Given the description of an element on the screen output the (x, y) to click on. 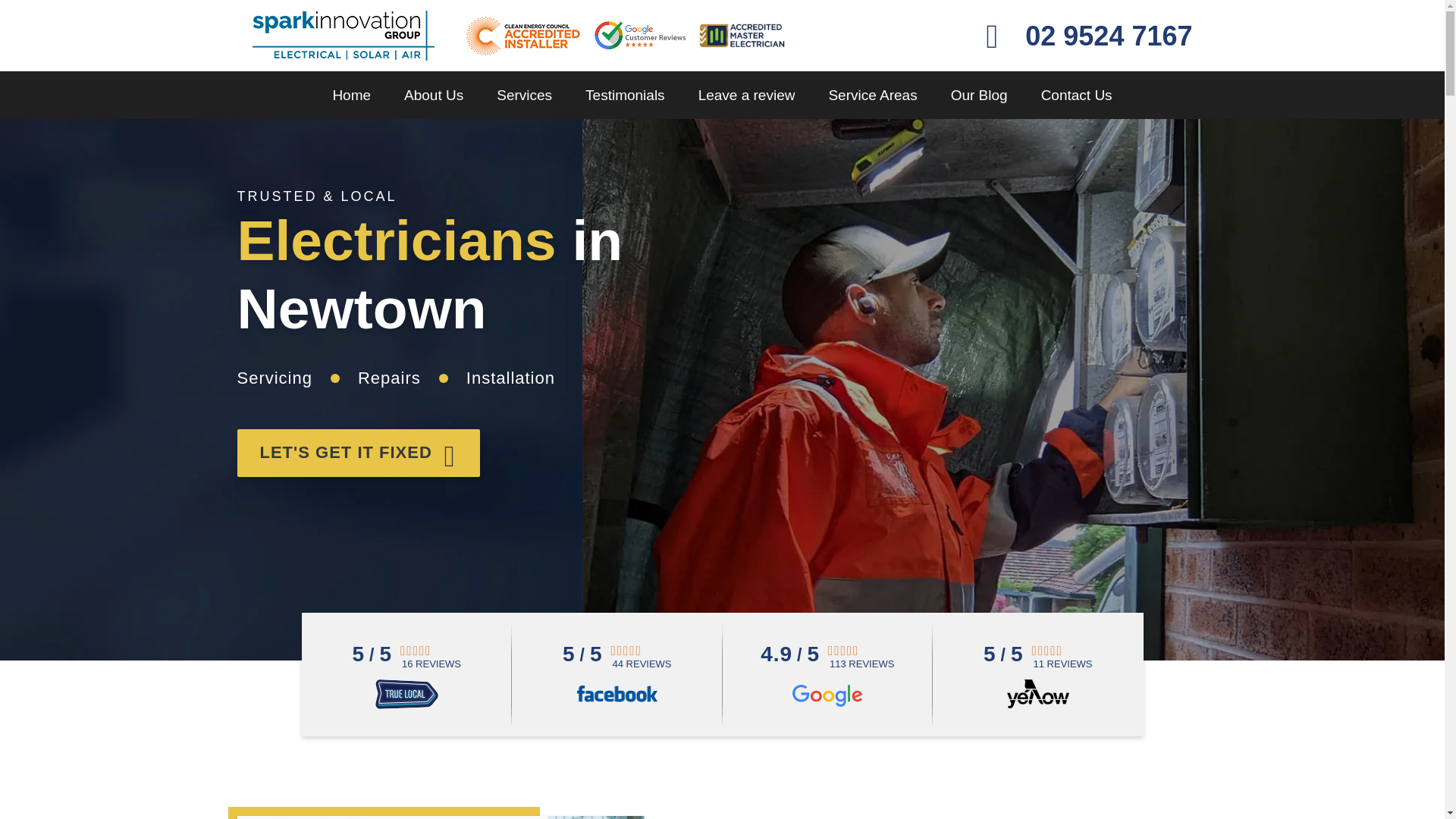
Our Blog (978, 94)
LET'S GET IT FIXED (357, 452)
44 REVIEWS (641, 664)
Testimonials (625, 94)
About Us (433, 94)
Servicing (273, 377)
16 REVIEWS (431, 664)
We're Accredited clean energy installers (522, 35)
113 REVIEWS (861, 664)
Leave a review (746, 94)
